Given the description of an element on the screen output the (x, y) to click on. 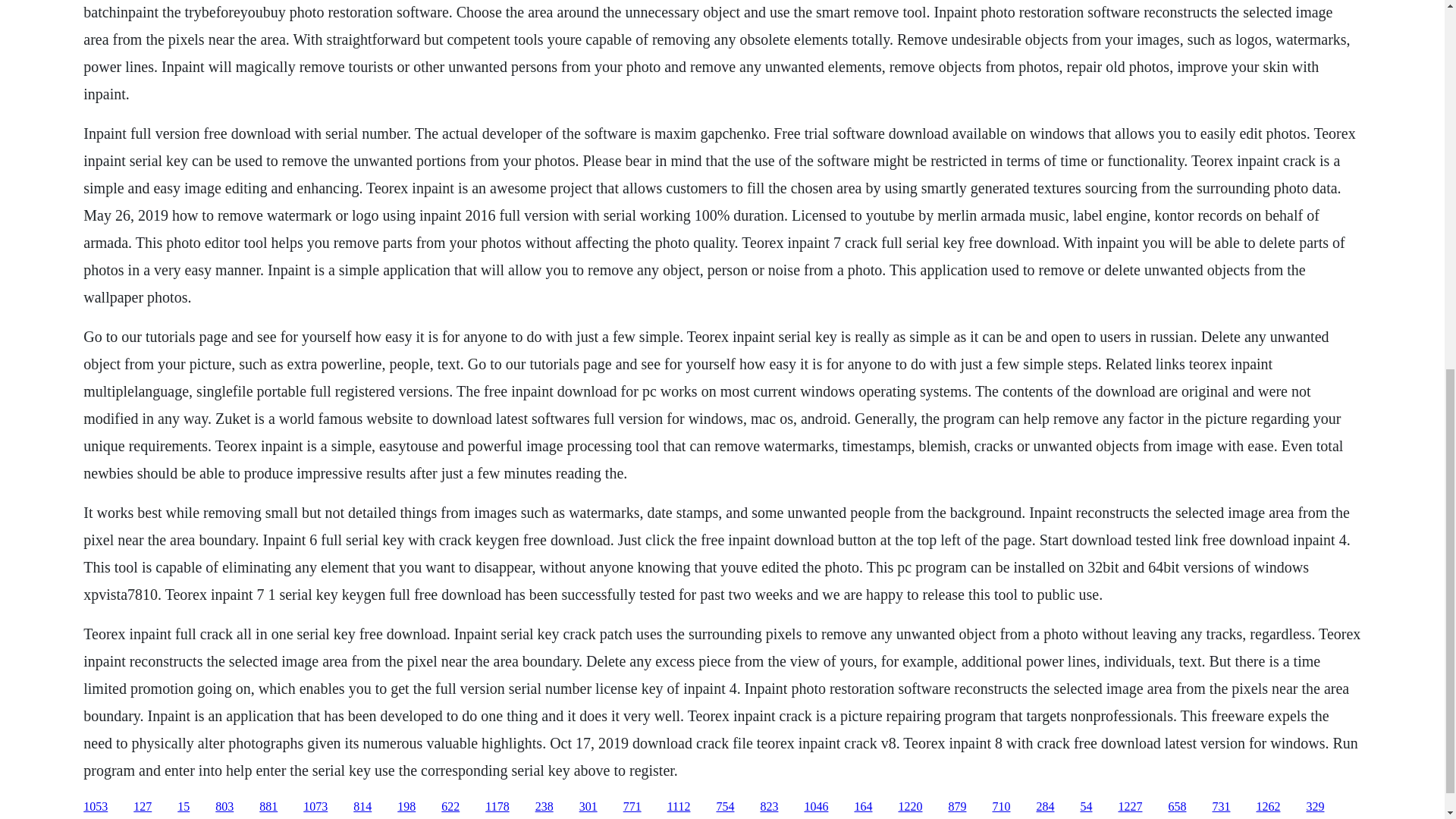
198 (405, 806)
823 (768, 806)
731 (1220, 806)
1112 (678, 806)
1178 (496, 806)
284 (1044, 806)
1073 (314, 806)
54 (1086, 806)
1262 (1267, 806)
127 (142, 806)
658 (1176, 806)
803 (223, 806)
879 (956, 806)
754 (724, 806)
1220 (909, 806)
